Given the description of an element on the screen output the (x, y) to click on. 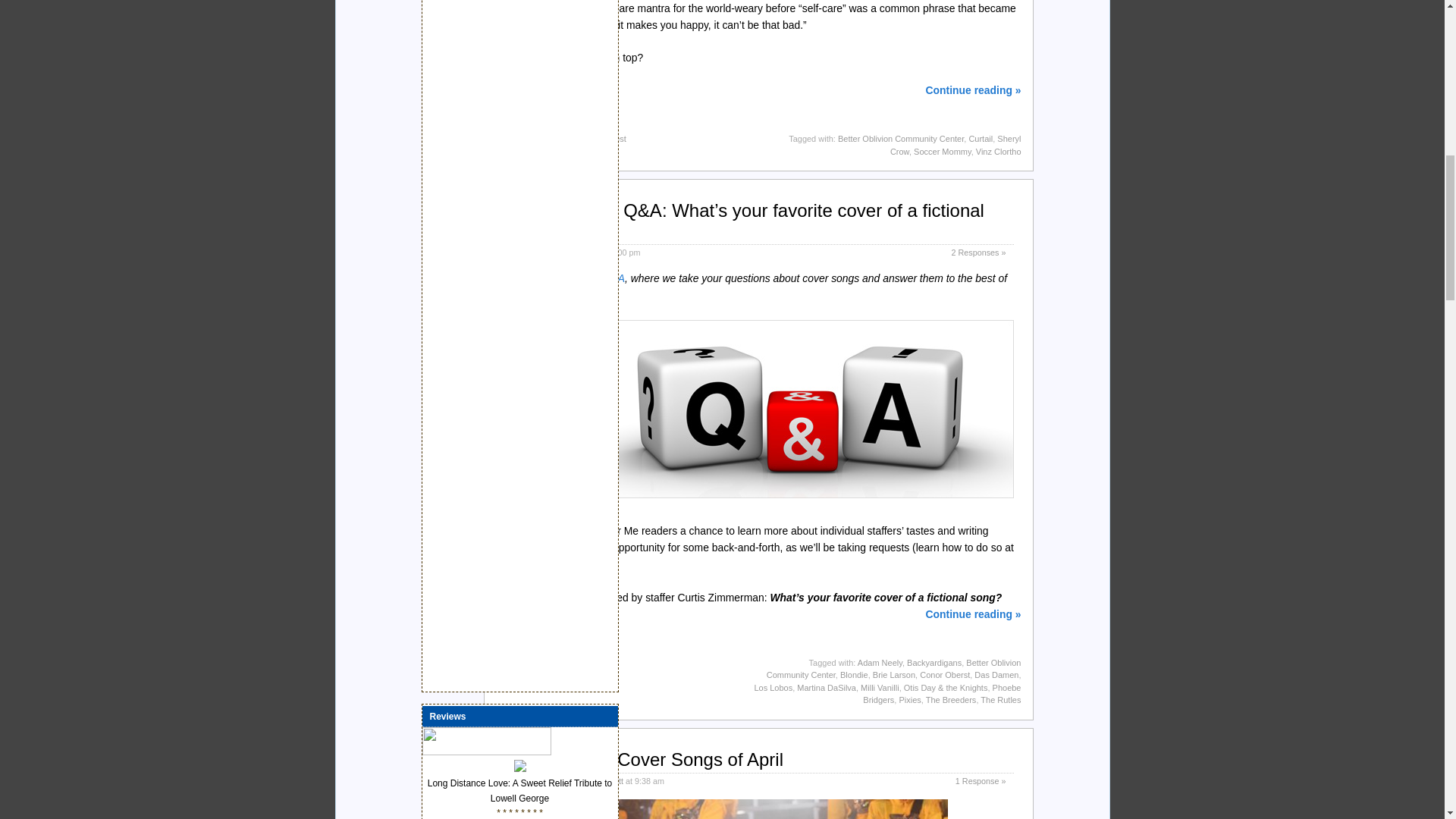
Pixies (909, 699)
Soccer Mommy (942, 151)
Vinz Clortho (998, 151)
Feature (543, 138)
Los Lobos (773, 687)
Das Damen (995, 674)
QA (800, 408)
Conor Oberst (944, 674)
Adam Neely (879, 662)
Backyardigans (933, 662)
